Given the description of an element on the screen output the (x, y) to click on. 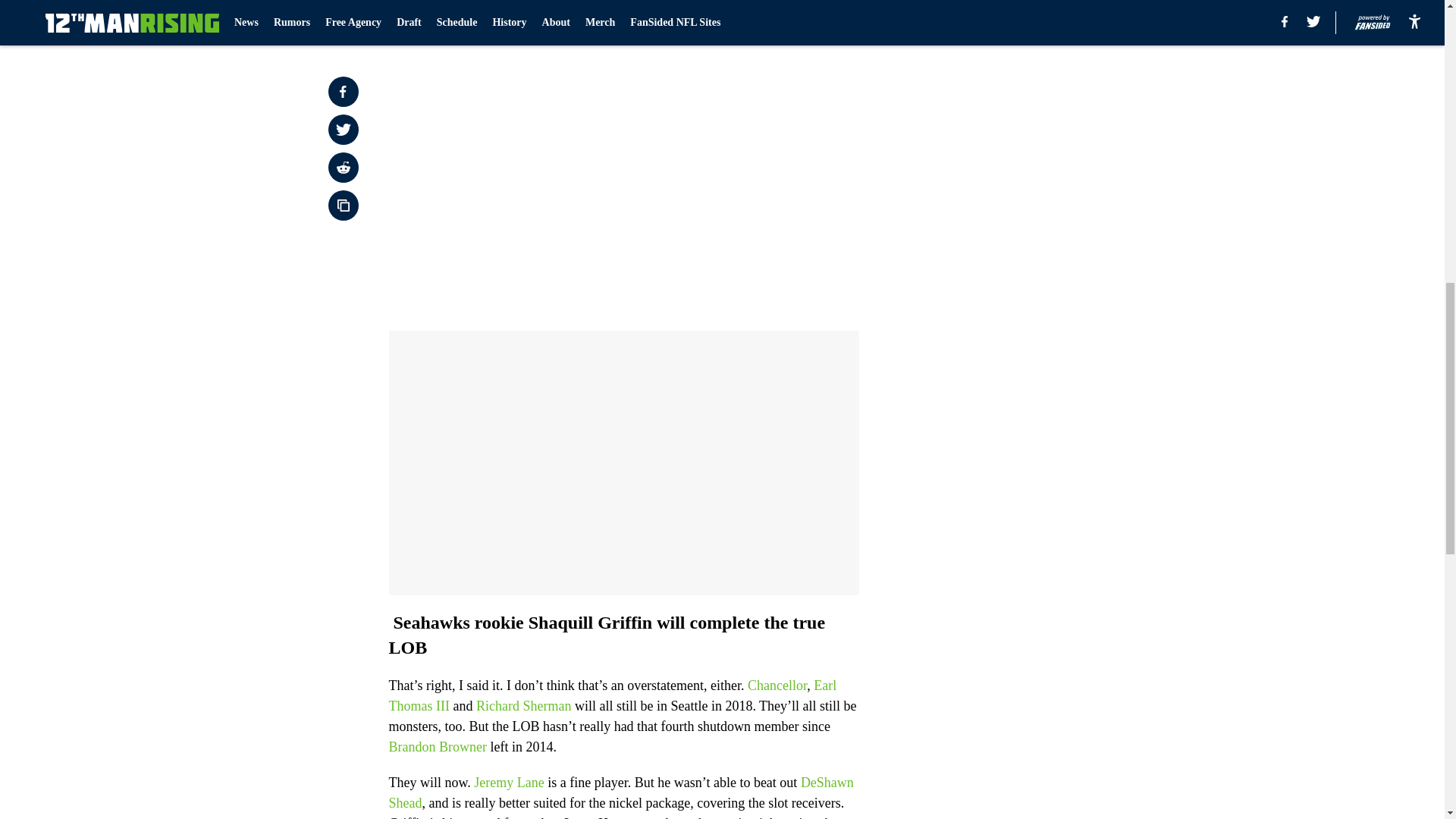
Earl Thomas III (611, 695)
Next (813, 20)
Prev (433, 20)
Chancellor (777, 685)
DeShawn Shead (620, 792)
Jeremy Lane (508, 782)
Richard Sherman (523, 705)
Brandon Browner (437, 746)
